Given the description of an element on the screen output the (x, y) to click on. 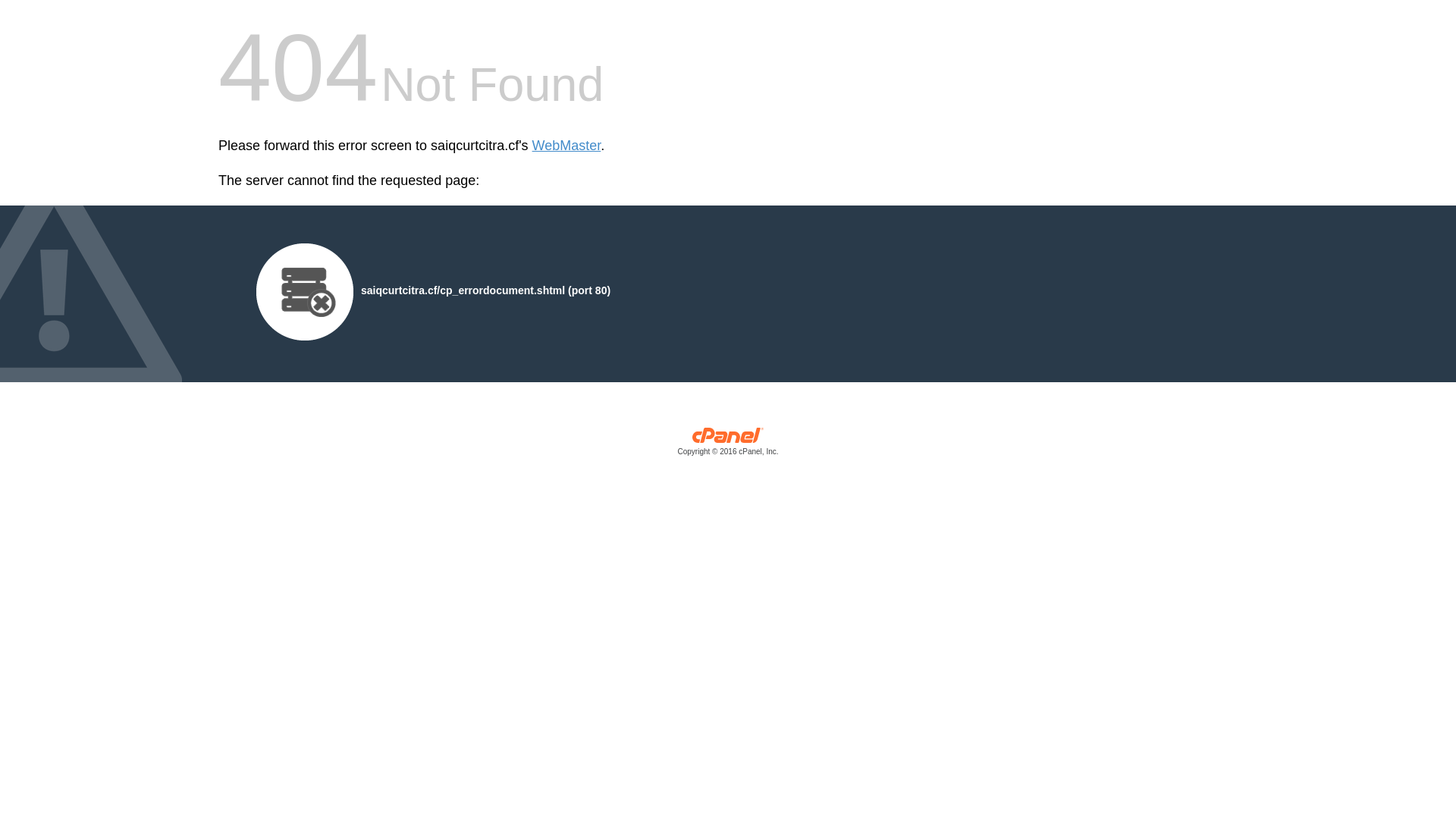
WebMaster Element type: text (566, 145)
